Given the description of an element on the screen output the (x, y) to click on. 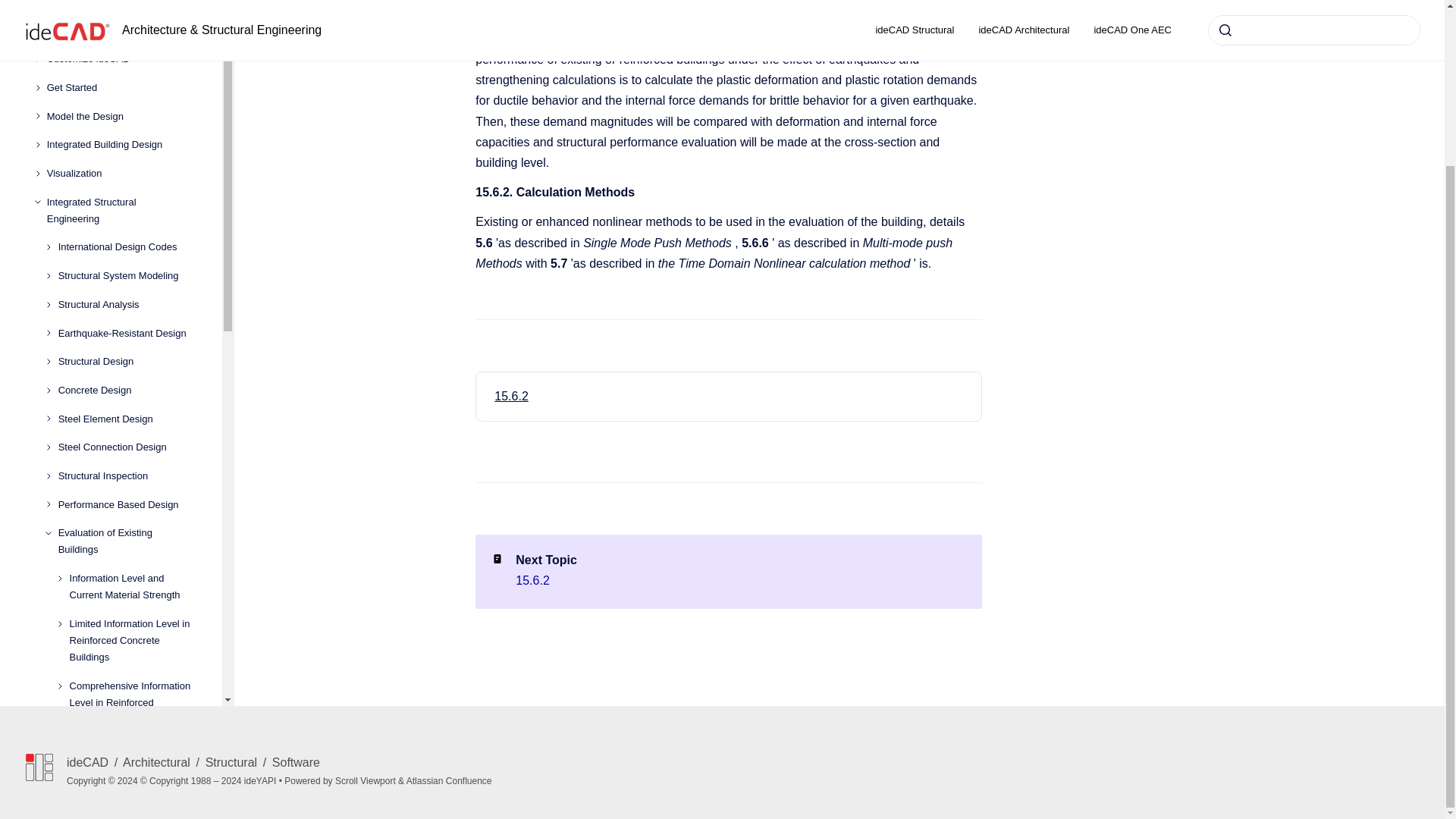
International Design Codes (128, 163)
Integrated Structural Engineering (122, 126)
Earthquake-Resistant Design (128, 248)
Visualization (122, 89)
Steel Element Design (128, 334)
Get Started (122, 8)
15.6.2 (511, 395)
Structural System Modeling (128, 191)
Model the Design (122, 31)
Concrete Design (128, 306)
